Given the description of an element on the screen output the (x, y) to click on. 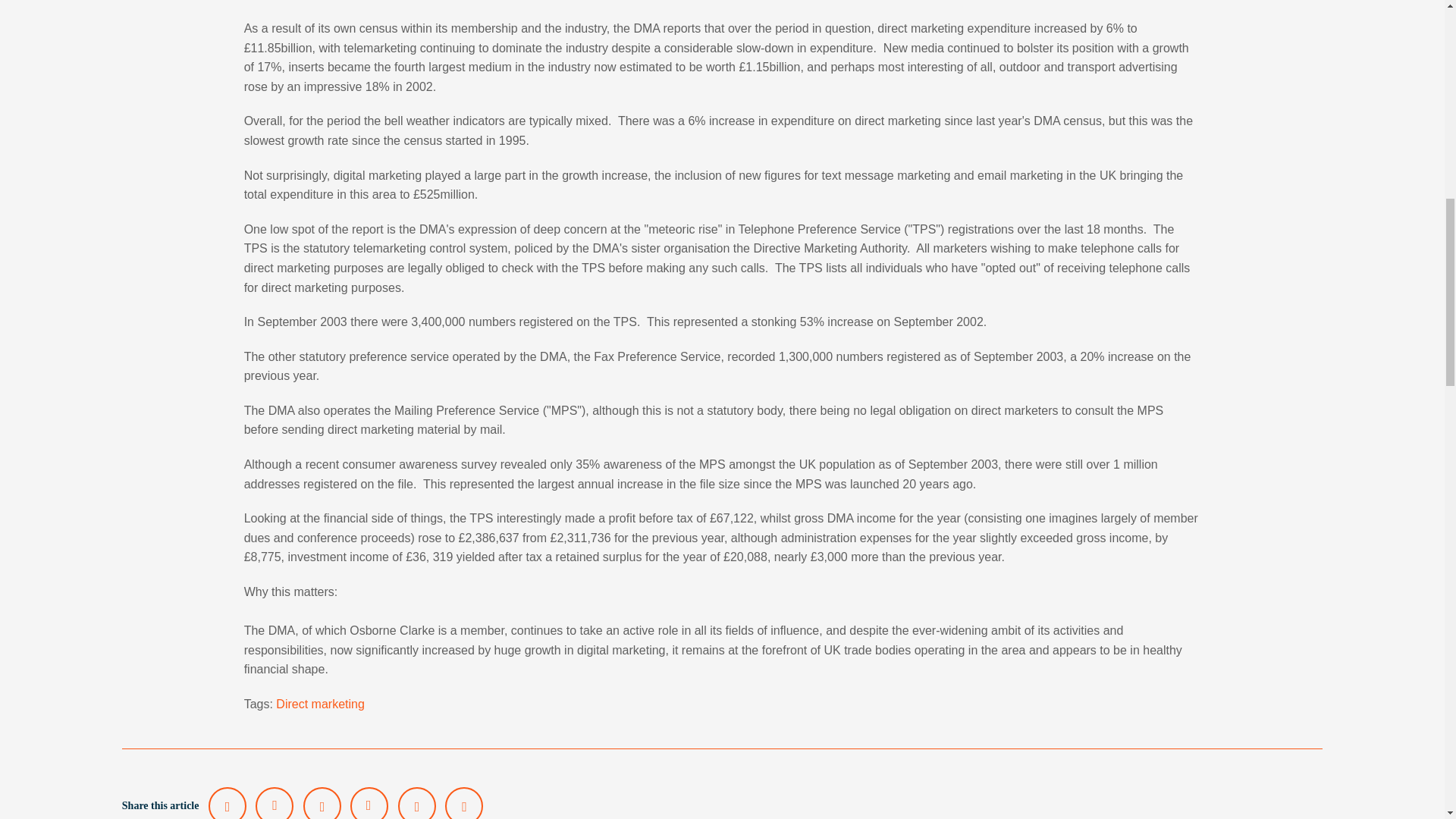
marketinglaw Facebook account (369, 803)
marketinglaw Twitter account (227, 803)
marketinglaw Print Article (464, 803)
marketinglaw Email Article Link (416, 803)
marketinglaw Google Plus account (321, 803)
Direct marketing (320, 703)
marketinglaw LinkedIn account (275, 803)
